Given the description of an element on the screen output the (x, y) to click on. 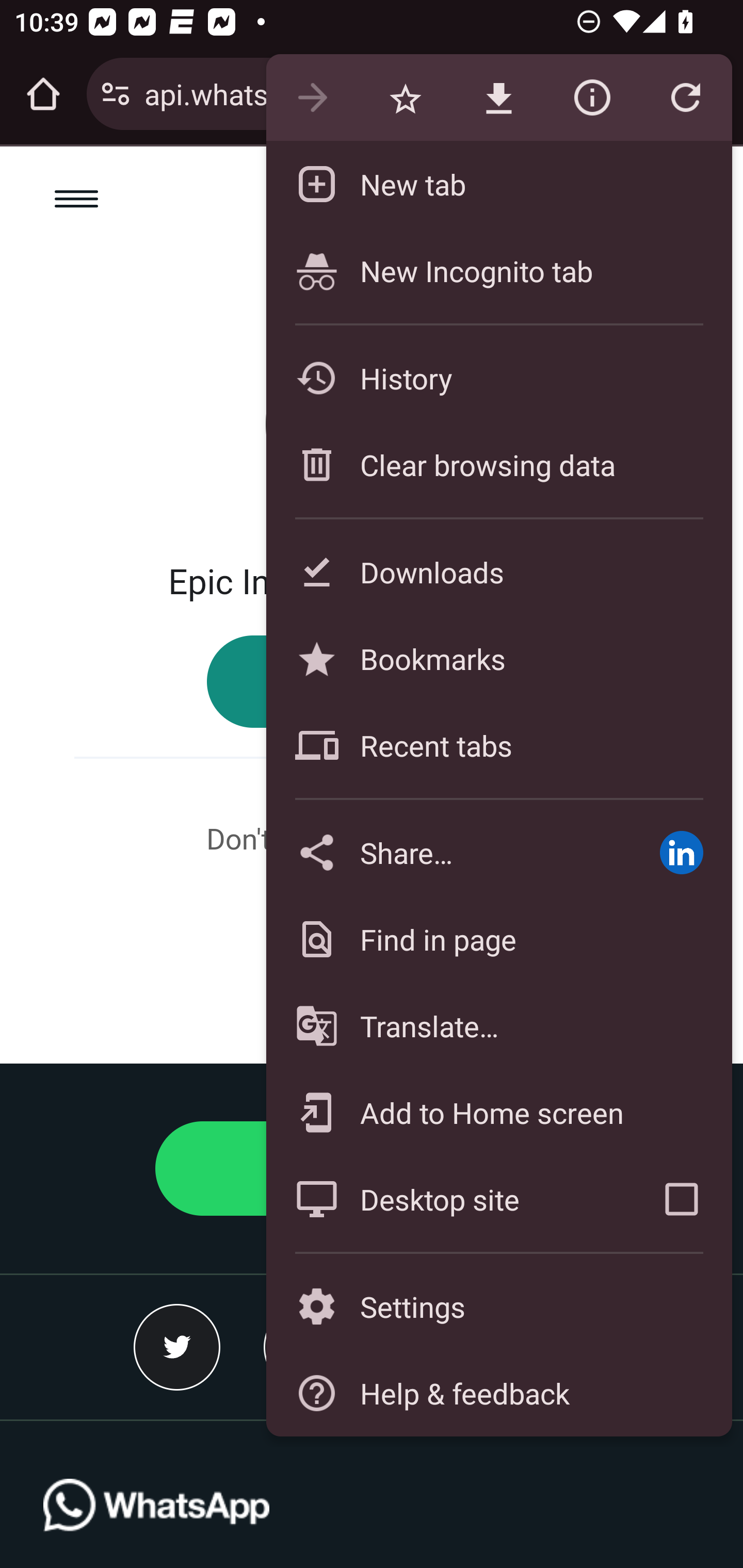
Forward (311, 97)
Bookmark (404, 97)
Download (498, 97)
Page info (591, 97)
Refresh (684, 97)
New tab (498, 184)
New Incognito tab (498, 270)
History (498, 377)
Clear browsing data (498, 464)
Downloads (498, 571)
Bookmarks (498, 658)
Recent tabs (498, 745)
Share… (447, 852)
Share via Share in a post (680, 852)
Find in page (498, 939)
Translate… (498, 1026)
Add to Home screen (498, 1112)
Desktop site Turn on Request desktop site (447, 1198)
Settings (498, 1306)
Help & feedback (498, 1393)
